Given the description of an element on the screen output the (x, y) to click on. 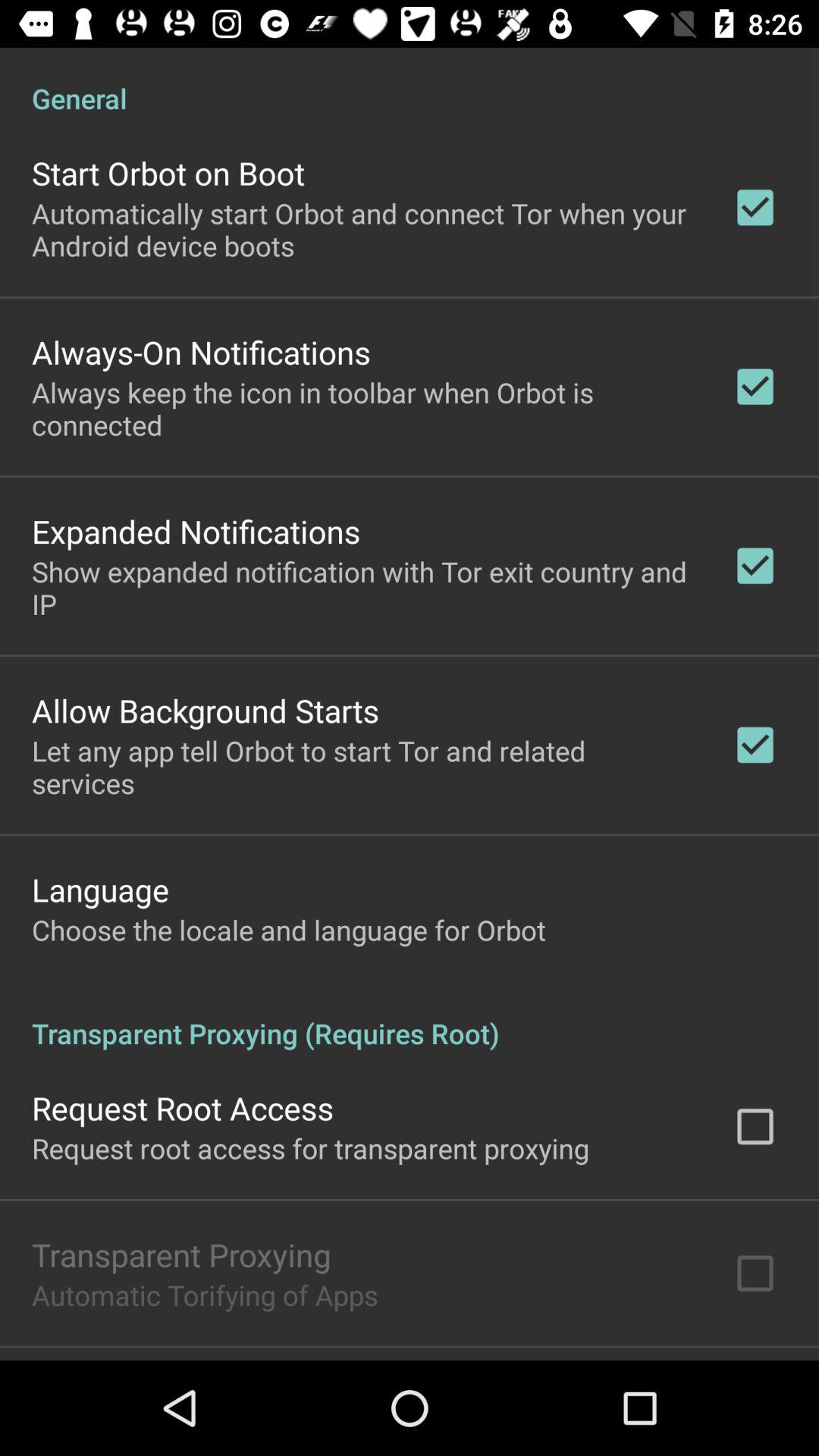
scroll until the always-on notifications icon (200, 351)
